Given the description of an element on the screen output the (x, y) to click on. 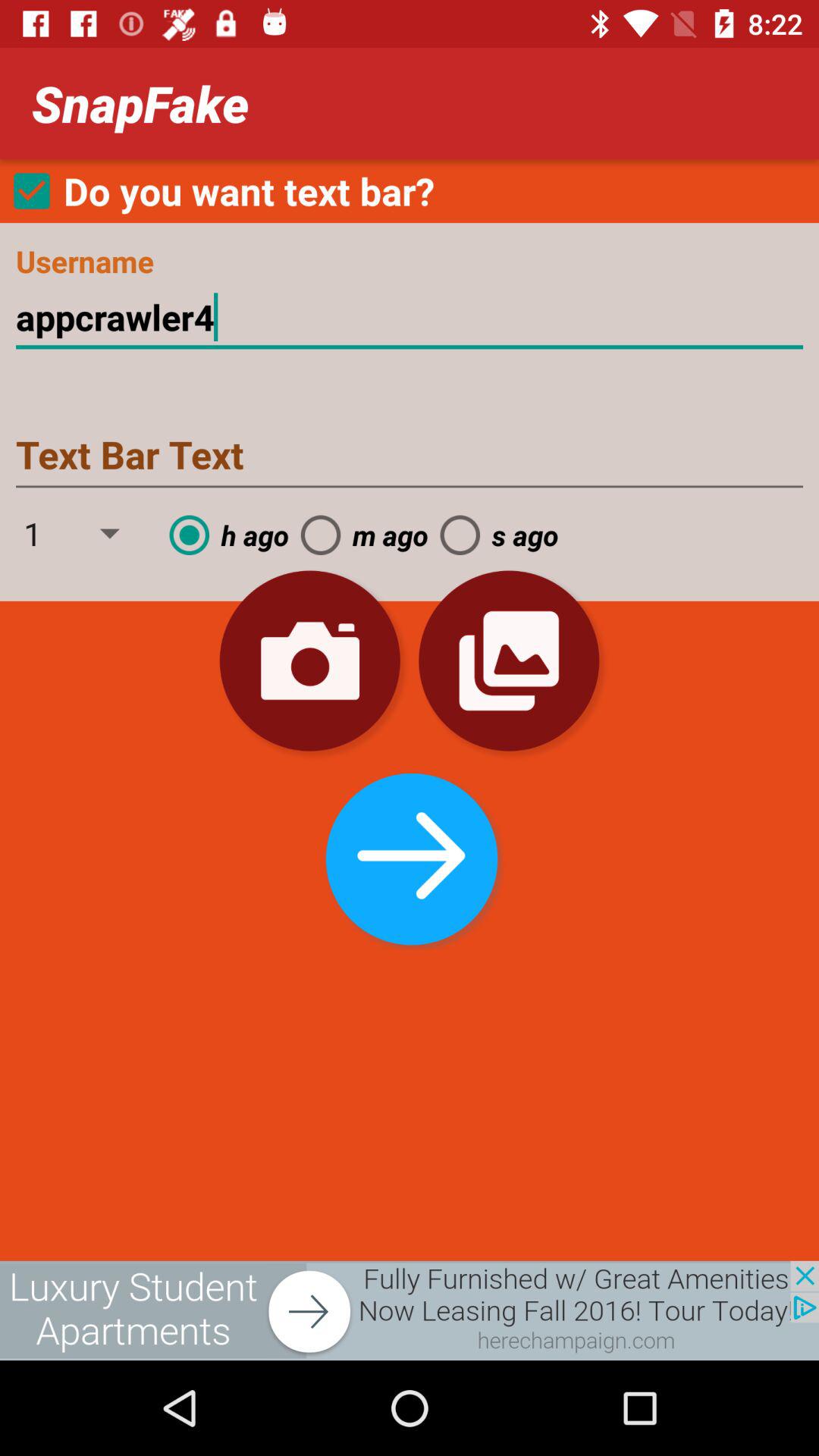
camera switch option (309, 660)
